Given the description of an element on the screen output the (x, y) to click on. 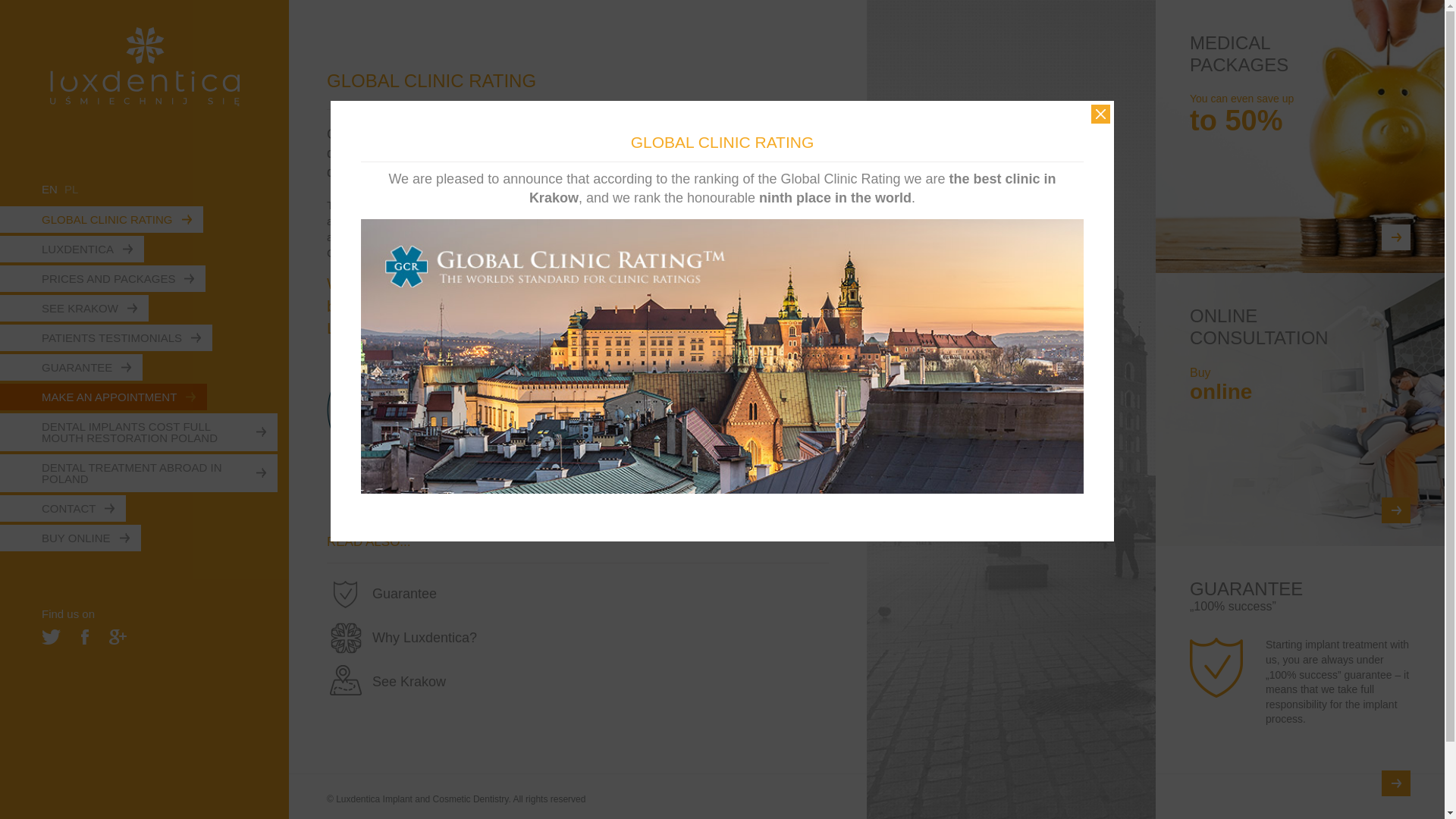
LUXDENTICA (72, 248)
BUY ONLINE (70, 537)
MAKE AN APPOINTMENT (103, 397)
PATIENTS TESTIMONIALS (106, 337)
SEE KRAKOW (74, 307)
GLOBAL CLINIC RATING (101, 219)
DENTAL IMPLANTS COST FULL MOUTH RESTORATION POLAND (139, 432)
Why Luxdentica? (577, 637)
EN (51, 188)
